Given the description of an element on the screen output the (x, y) to click on. 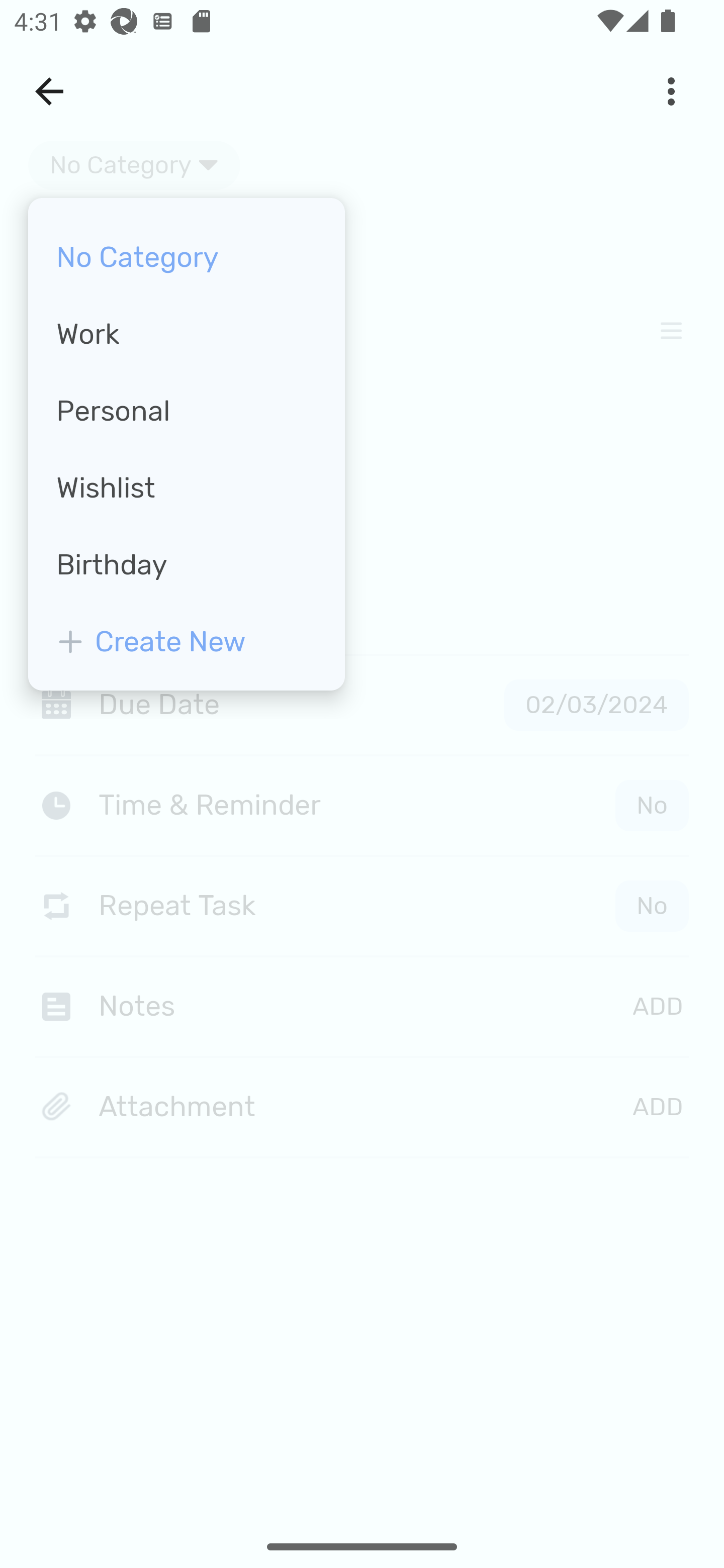
No Category (186, 257)
Work (186, 334)
Personal (186, 411)
Wishlist (186, 488)
Birthday (186, 564)
Create New (186, 636)
